Given the description of an element on the screen output the (x, y) to click on. 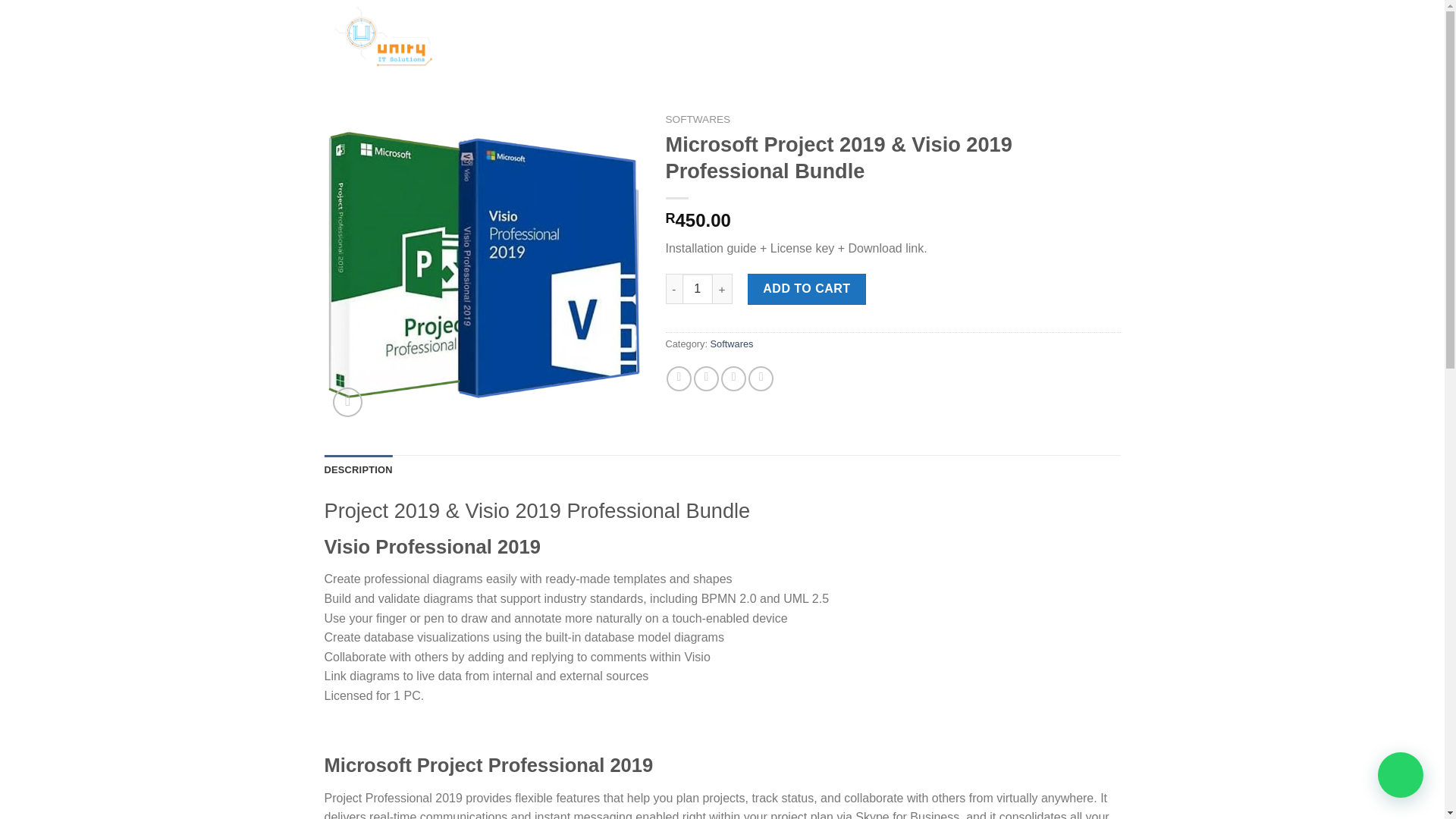
Email to a Friend (732, 378)
Softwares (732, 343)
STORE (577, 37)
Qty (697, 288)
Pin on Pinterest (760, 378)
CONTACT (689, 37)
ADD TO CART (807, 288)
Share on Facebook (678, 378)
LOGIN (973, 37)
Cart (1065, 37)
SOFTWARES (697, 119)
REPLACE IT (889, 37)
Zoom (347, 401)
Share on Twitter (706, 378)
HOME (527, 37)
